Given the description of an element on the screen output the (x, y) to click on. 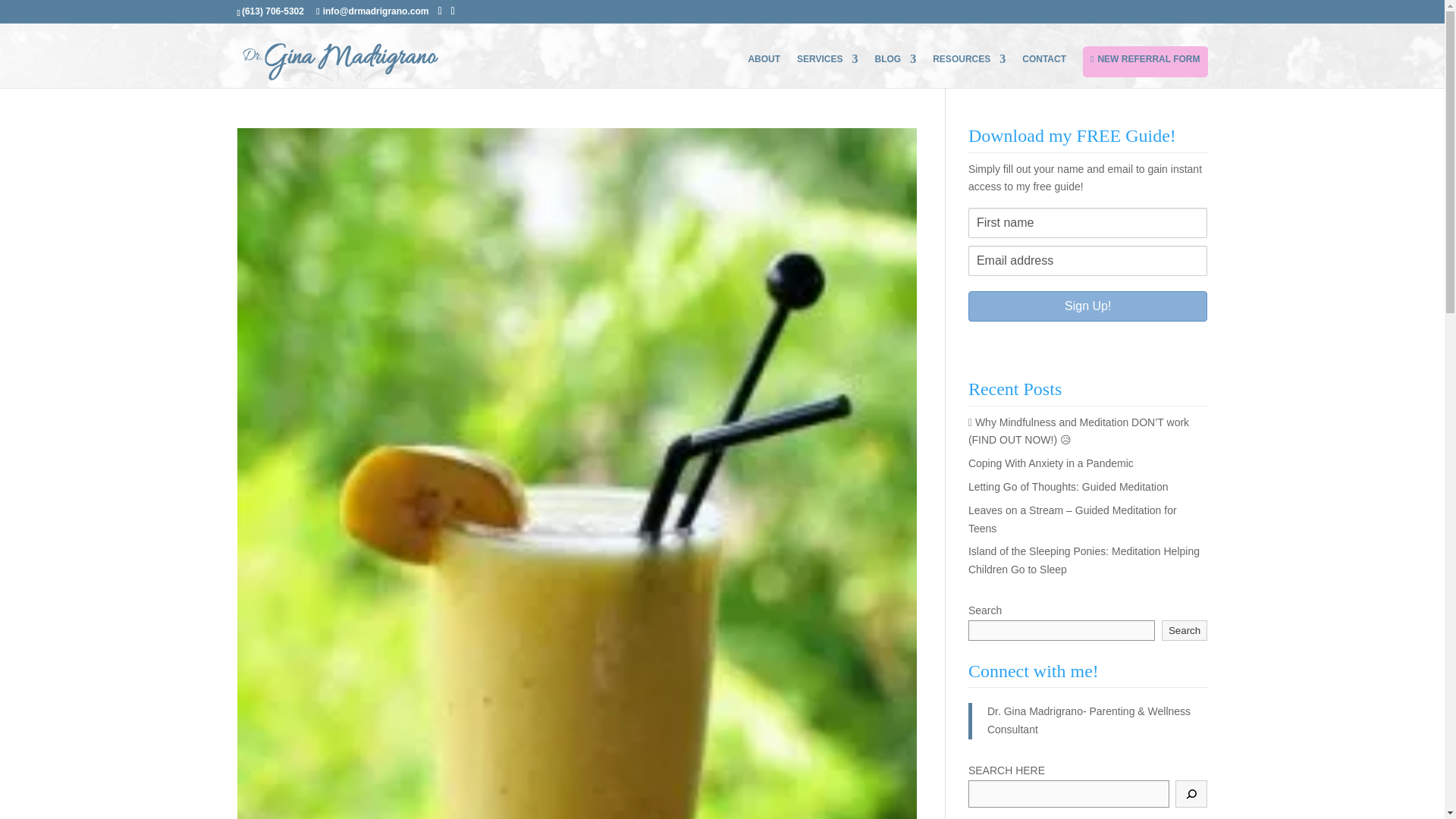
SERVICES (826, 70)
ABOUT (764, 70)
First name (1088, 223)
BLOG (896, 70)
NEW REFERRAL FORM (1145, 60)
RESOURCES (969, 70)
Sign Up! (1088, 306)
Email address (1088, 260)
CONTACT (1043, 70)
